Given the description of an element on the screen output the (x, y) to click on. 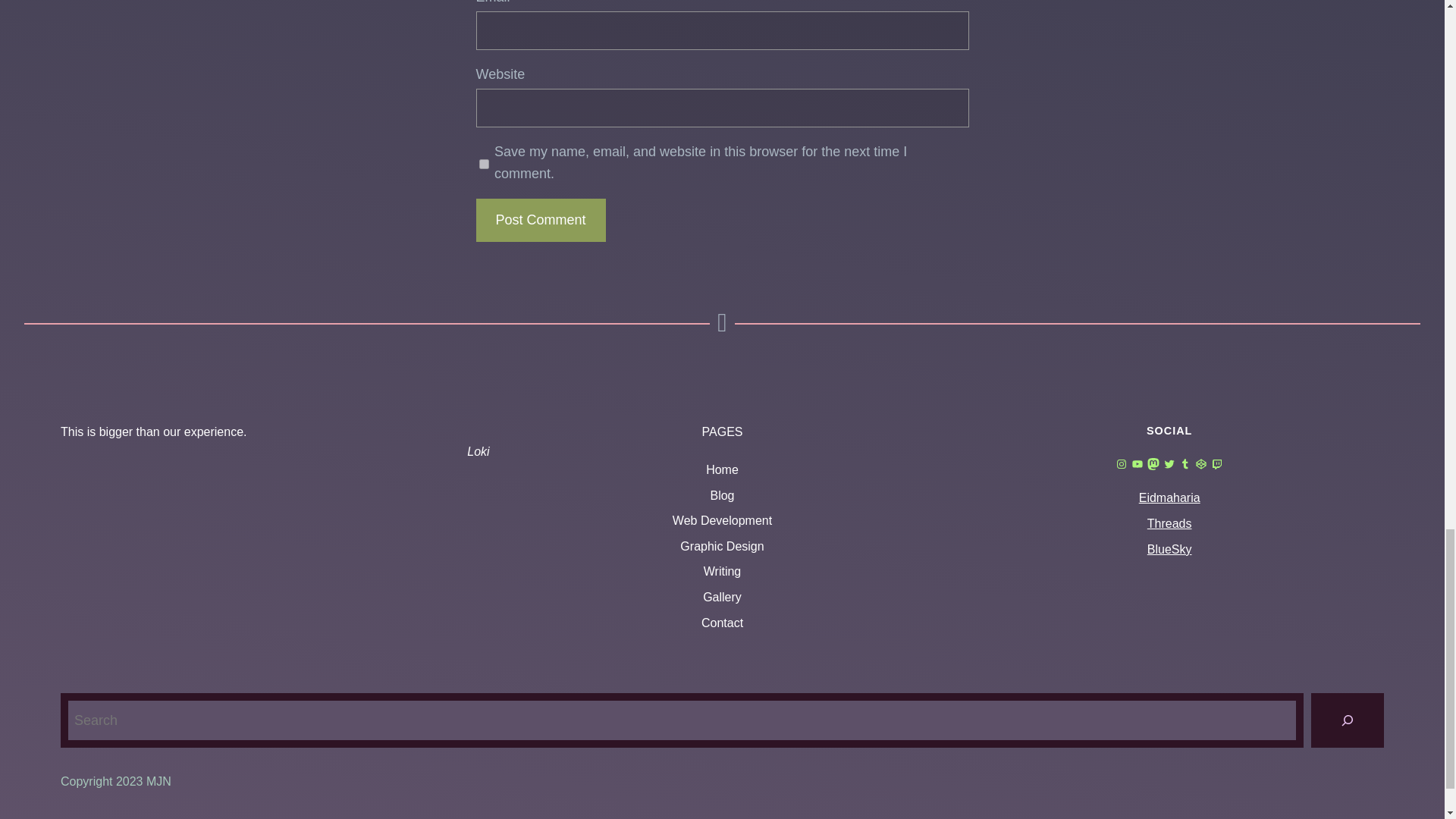
Home (722, 469)
Blog (721, 496)
Post Comment (540, 220)
Post Comment (540, 220)
